Given the description of an element on the screen output the (x, y) to click on. 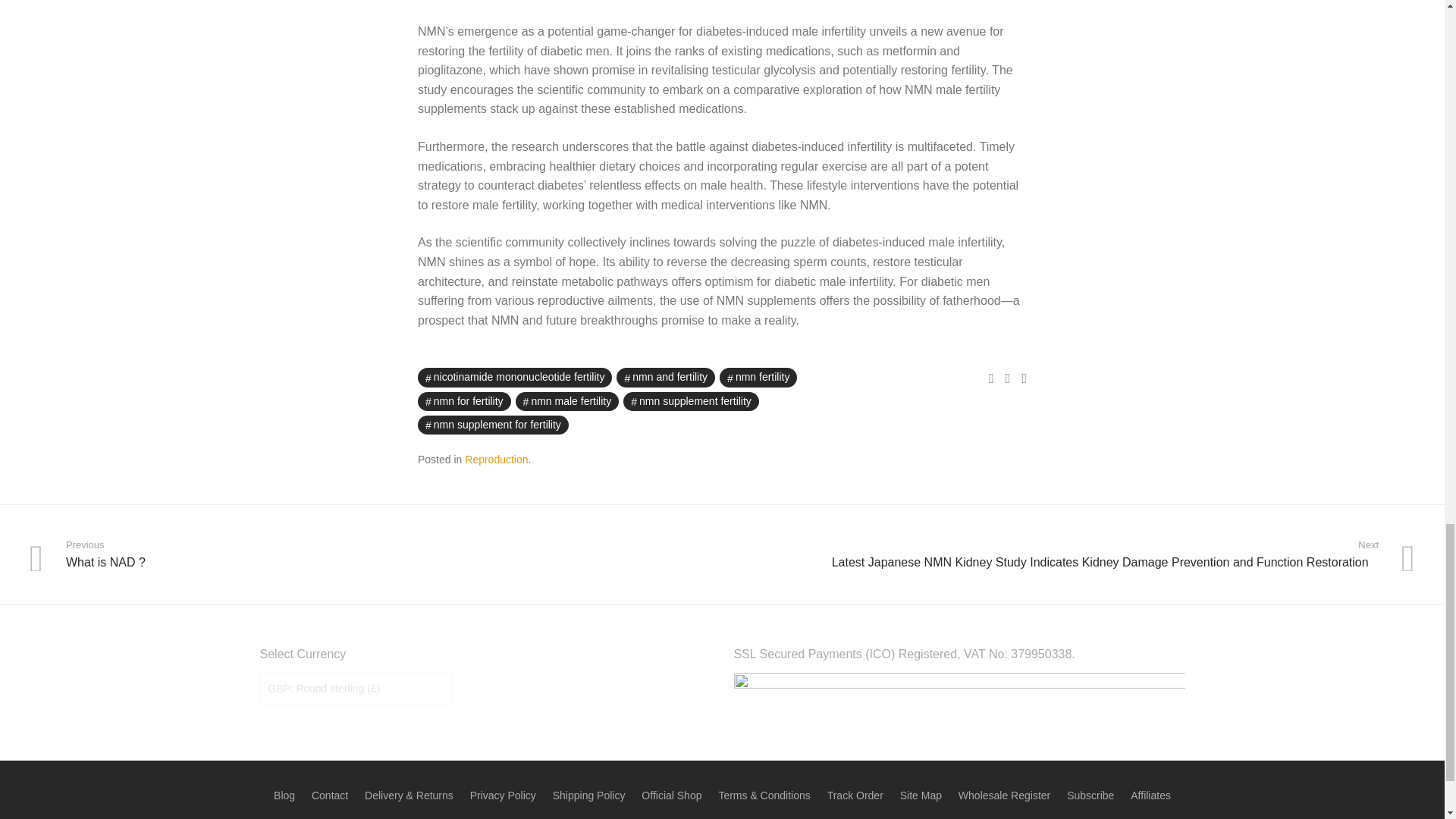
nmn for fertility (464, 401)
nmn supplement fertility (690, 401)
Reproduction (495, 459)
nmn and fertility (664, 376)
nmn male fertility (567, 401)
nmn supplement for fertility (493, 424)
nicotinamide mononucleotide fertility (514, 376)
nmn fertility (757, 376)
